Given the description of an element on the screen output the (x, y) to click on. 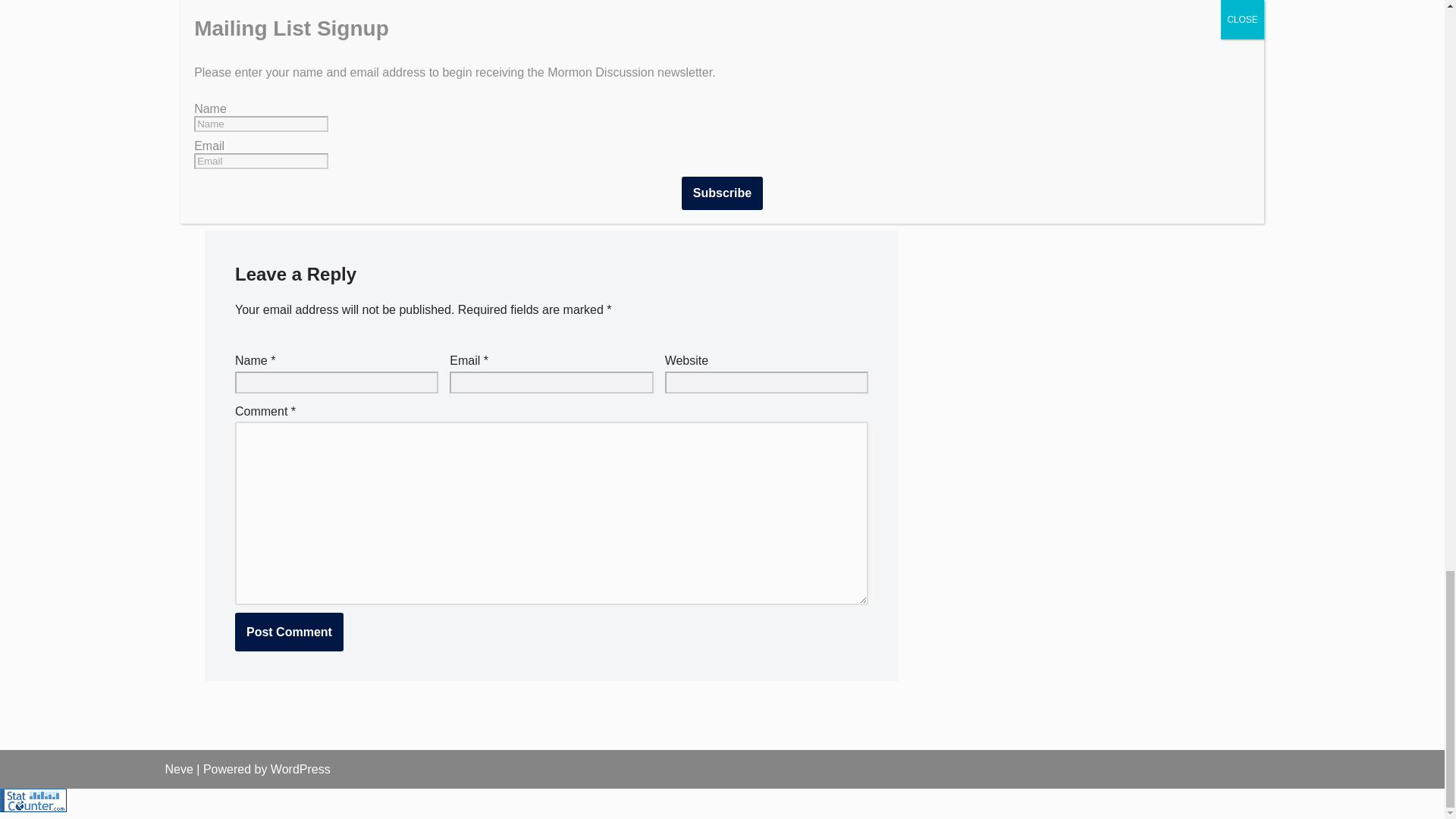
THREE STRIKES (477, 165)
GUEST POST (341, 165)
Post Comment (288, 631)
three strikes (477, 165)
Post Comment (288, 631)
AM I OUT (269, 165)
guest post (341, 165)
am I out (269, 165)
POST (406, 165)
Neve (179, 768)
WordPress (300, 768)
Post (406, 165)
